Given the description of an element on the screen output the (x, y) to click on. 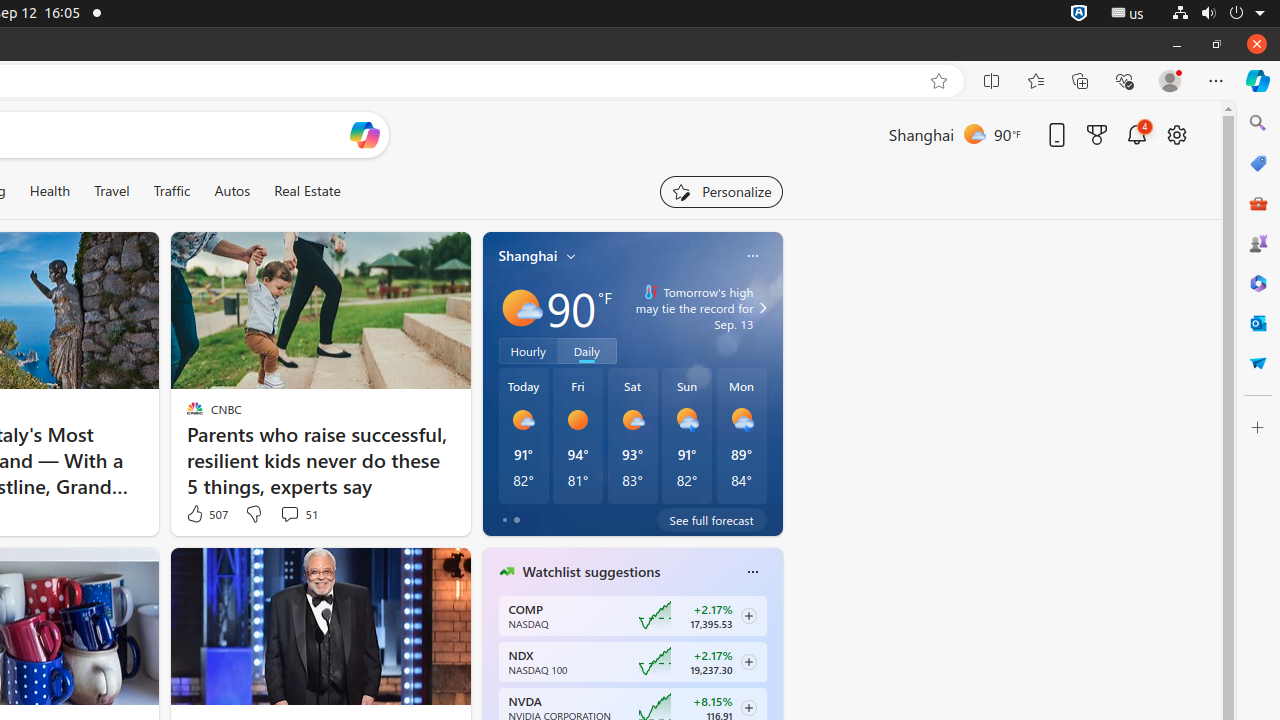
Tomorrow's high may tie the record for Sep. 13 Element type: link (690, 308)
507 Like Element type: toggle-button (206, 514)
Weather forecast Fri High temperature 94° Low temperature 81° Element type: link (578, 435)
Favorites Element type: push-button (1036, 81)
Travel Element type: link (112, 191)
